Given the description of an element on the screen output the (x, y) to click on. 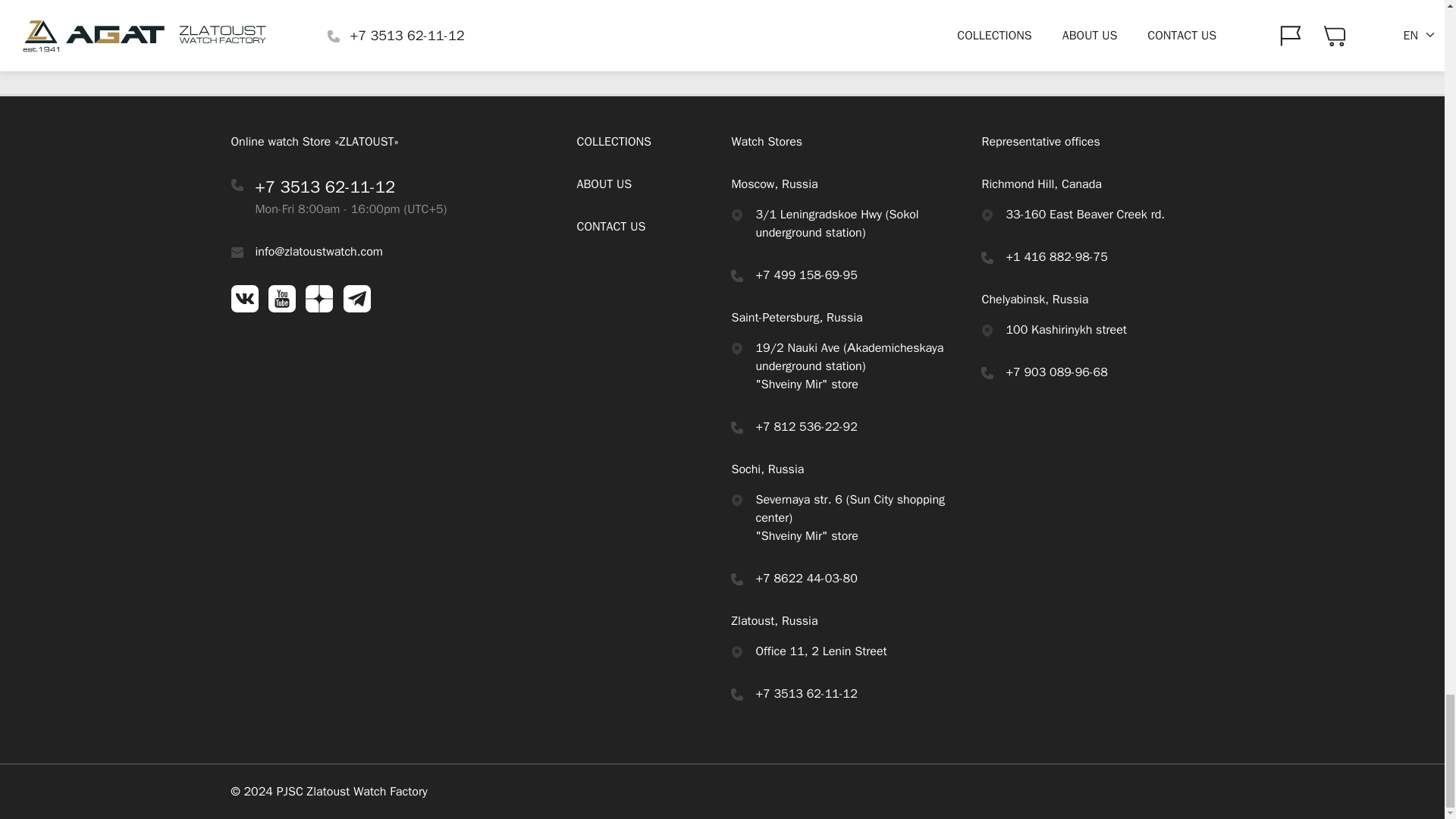
active (736, 215)
